Given the description of an element on the screen output the (x, y) to click on. 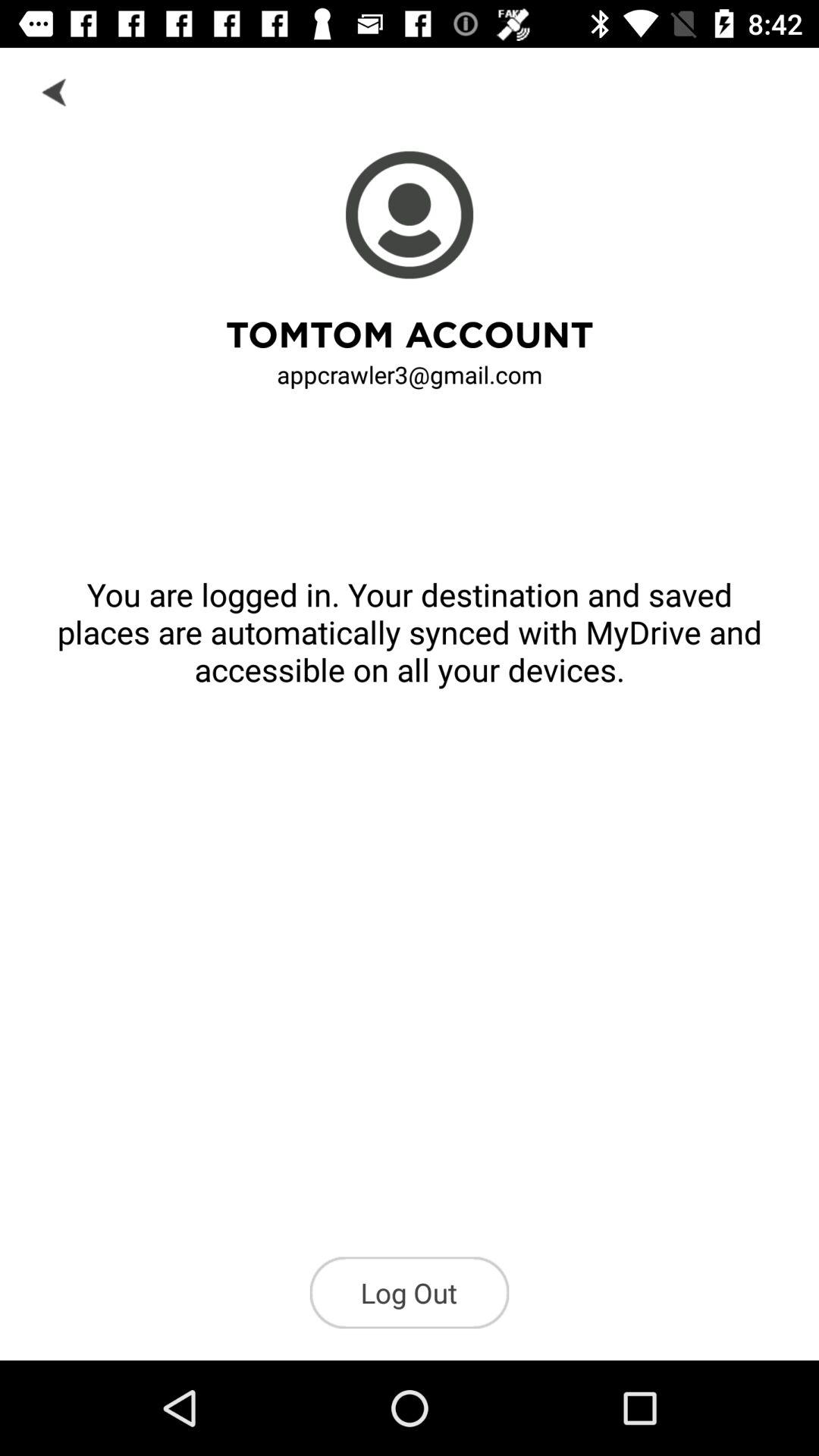
click on the arrow back (55, 91)
